Given the description of an element on the screen output the (x, y) to click on. 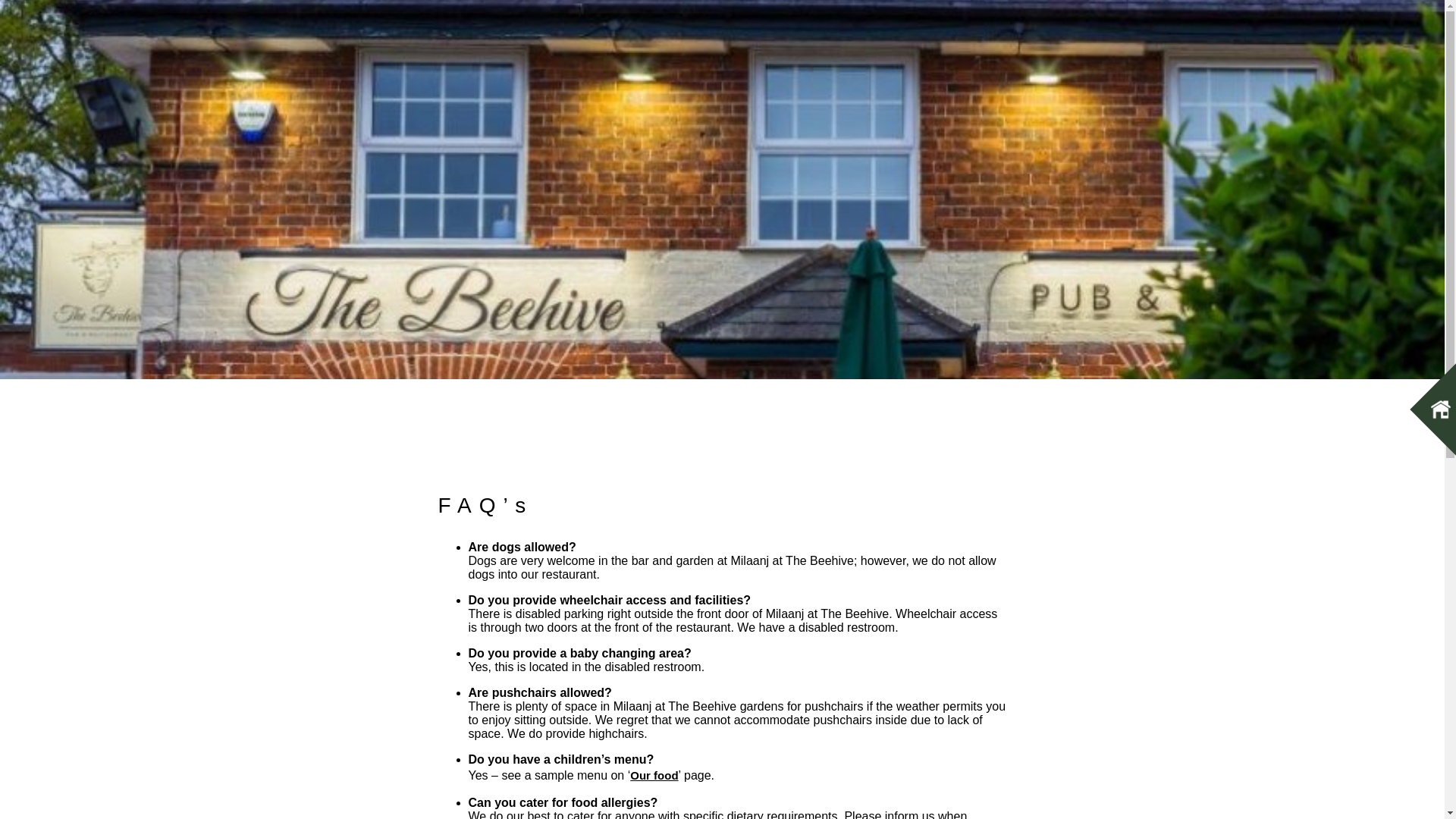
Our food (654, 775)
